Given the description of an element on the screen output the (x, y) to click on. 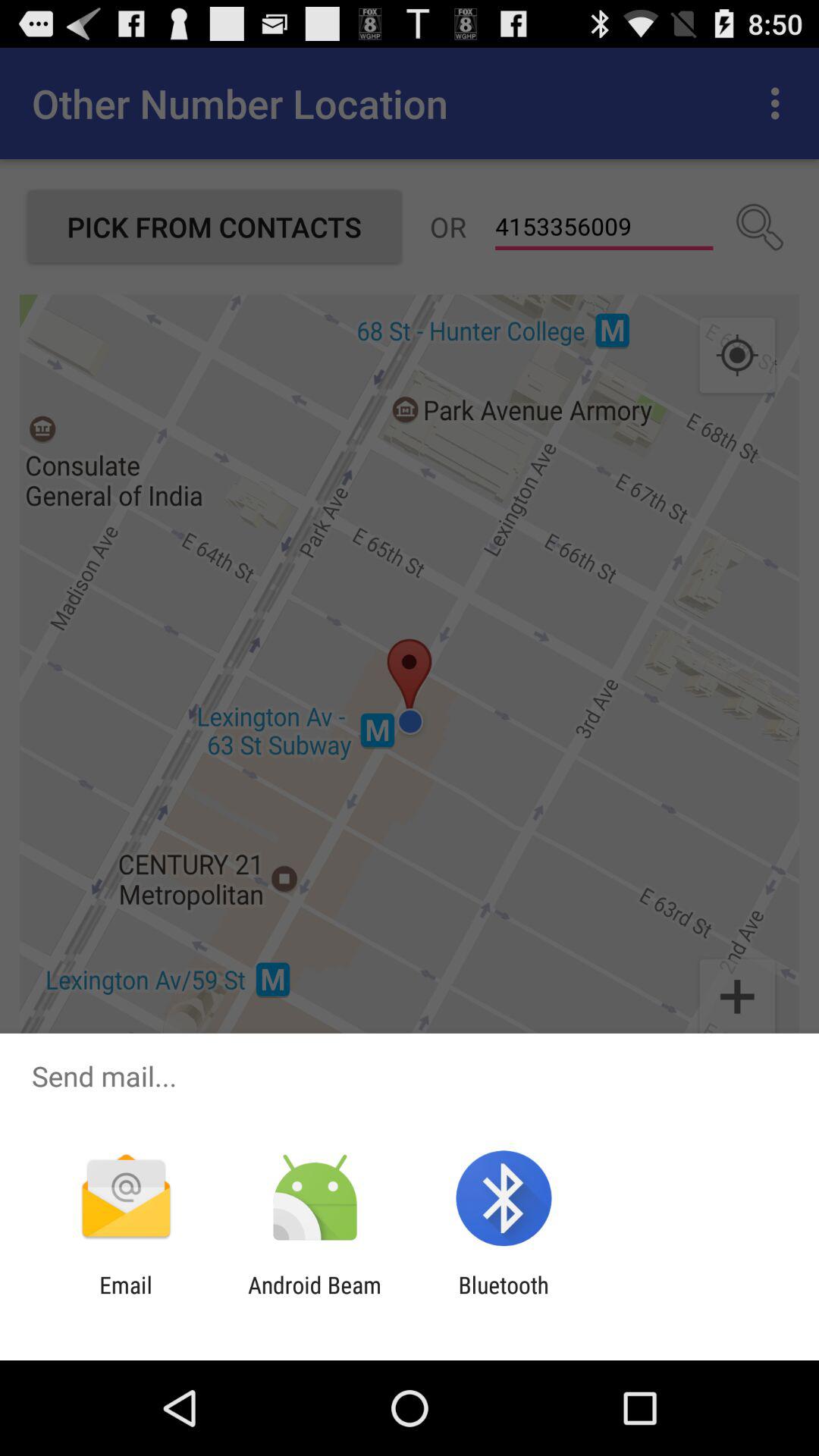
turn on the app next to the bluetooth icon (314, 1298)
